Given the description of an element on the screen output the (x, y) to click on. 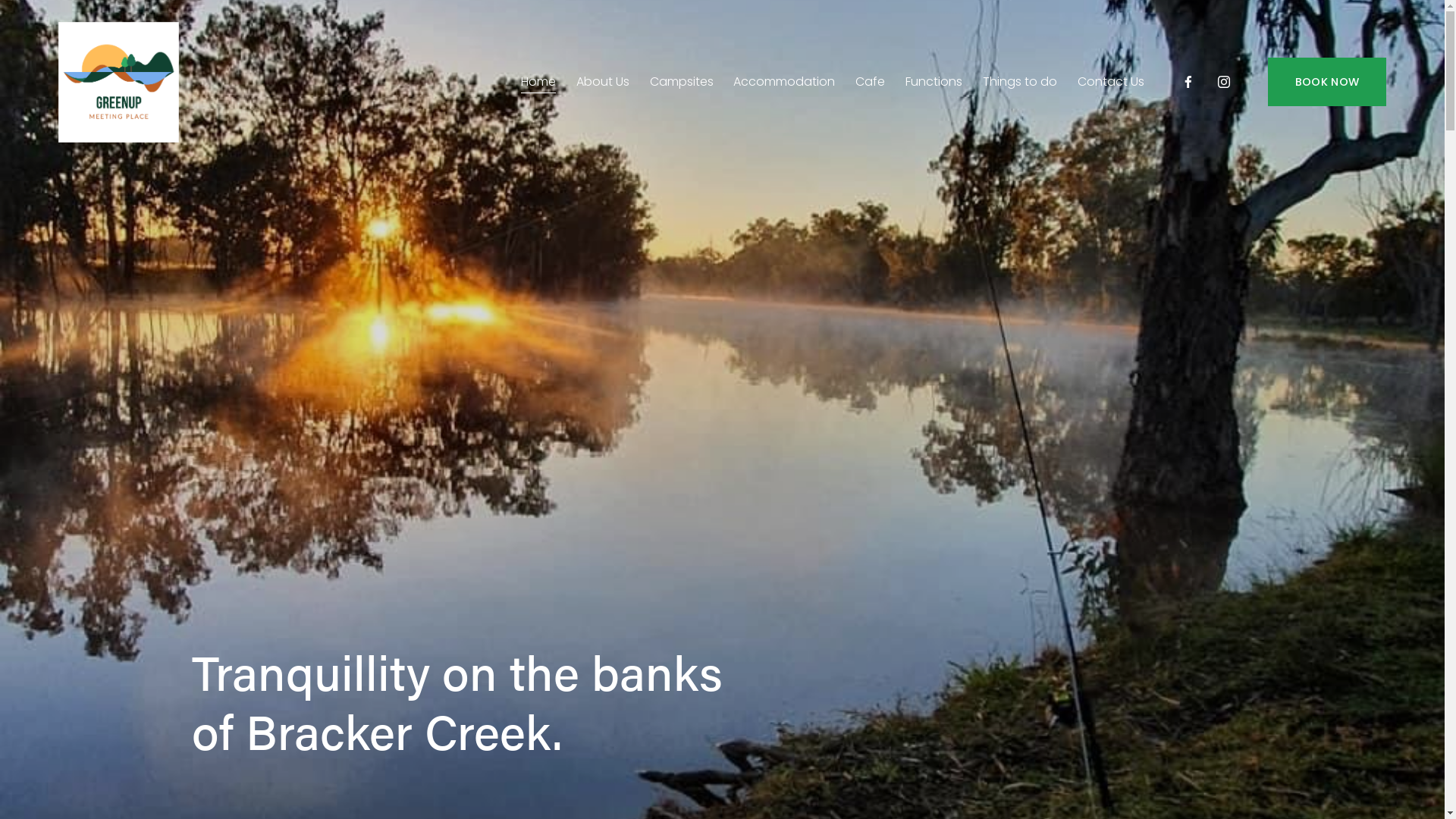
Functions Element type: text (933, 81)
Home Element type: text (537, 81)
About Us Element type: text (602, 81)
BOOK NOW Element type: text (1326, 81)
Cafe Element type: text (869, 81)
Things to do Element type: text (1019, 81)
Contact Us Element type: text (1110, 81)
Campsites Element type: text (681, 81)
Accommodation Element type: text (783, 81)
